Given the description of an element on the screen output the (x, y) to click on. 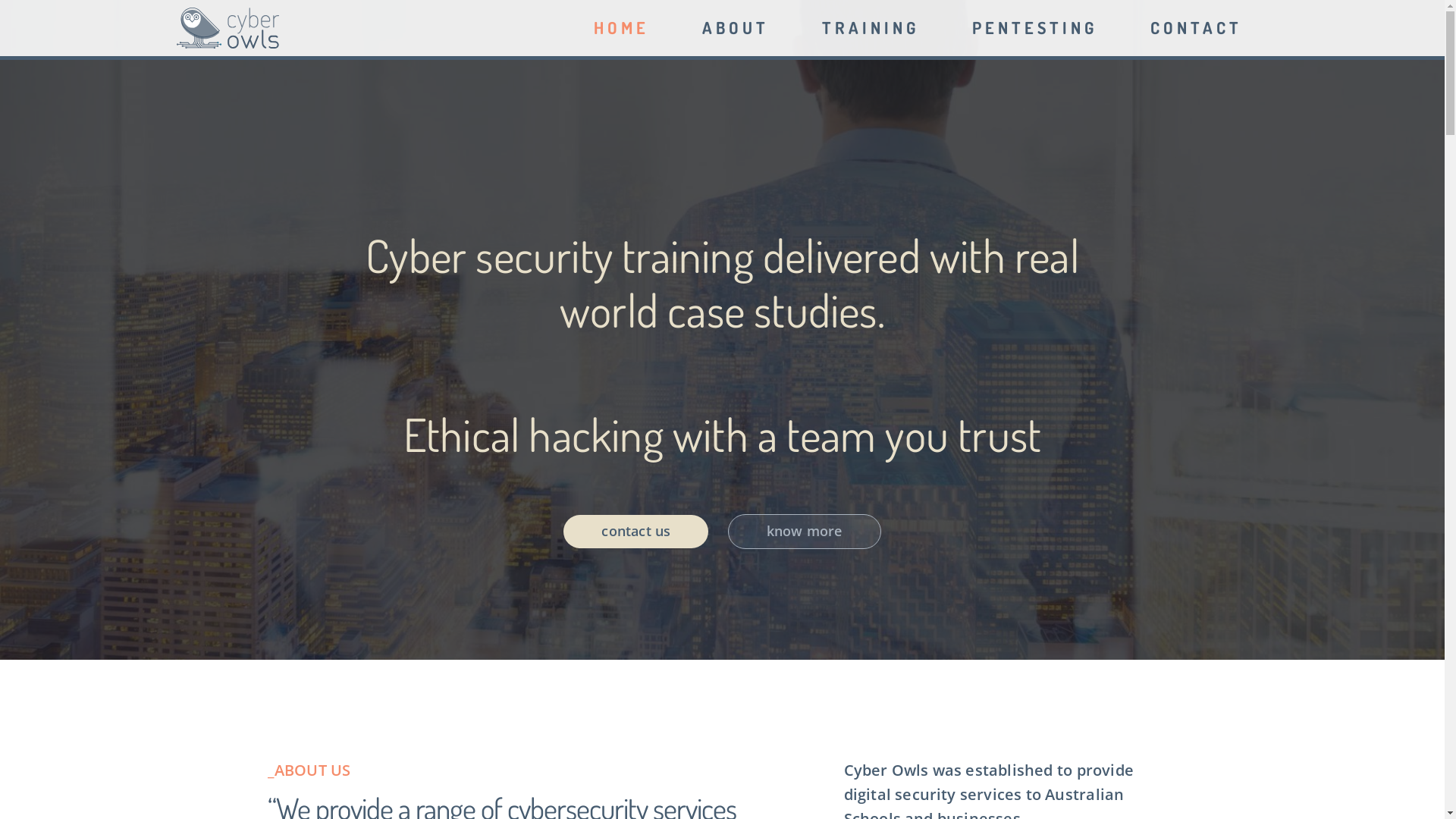
know more Element type: text (804, 531)
contact us Element type: text (635, 531)
